Given the description of an element on the screen output the (x, y) to click on. 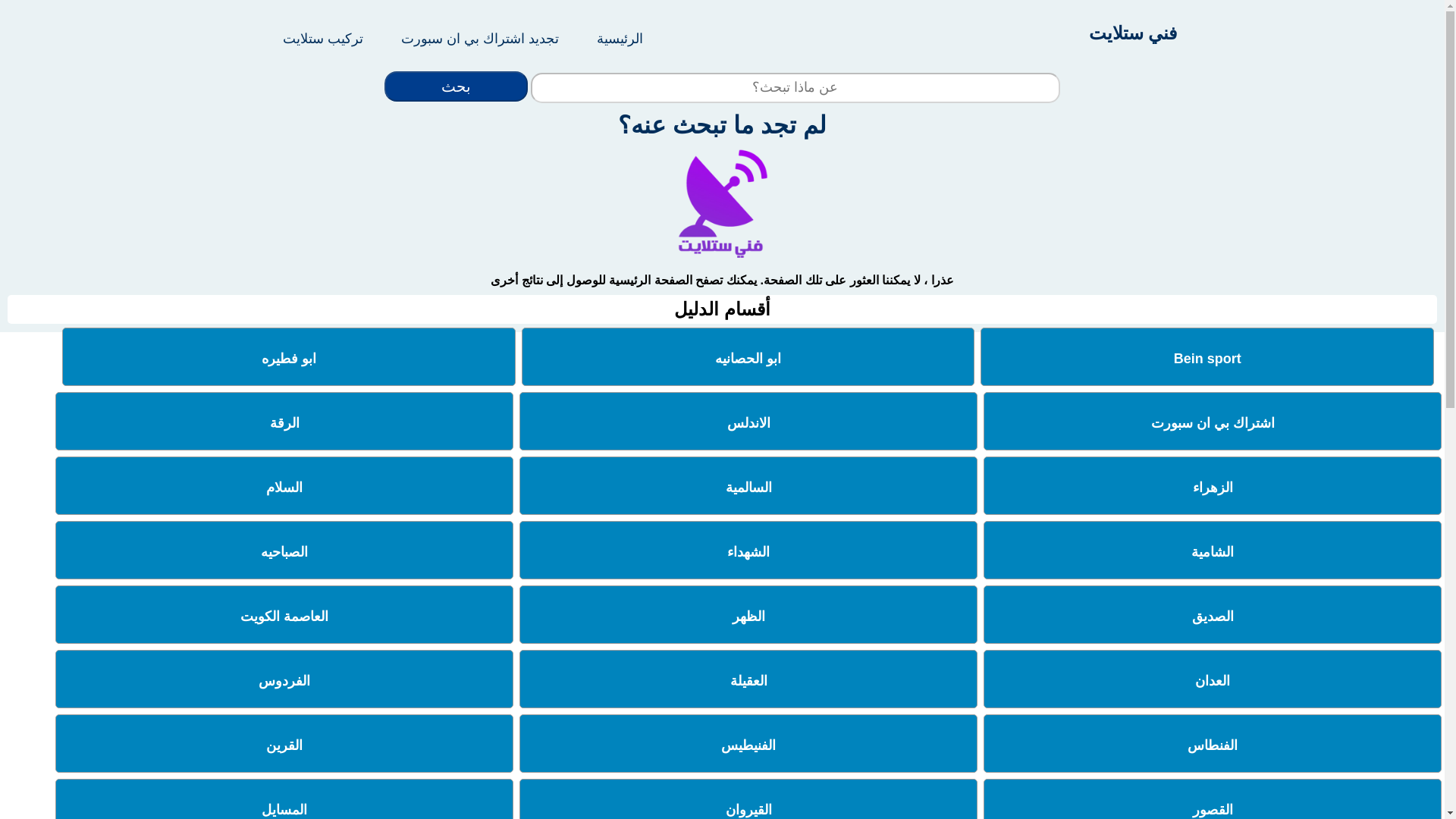
Bein sport (1207, 358)
